Given the description of an element on the screen output the (x, y) to click on. 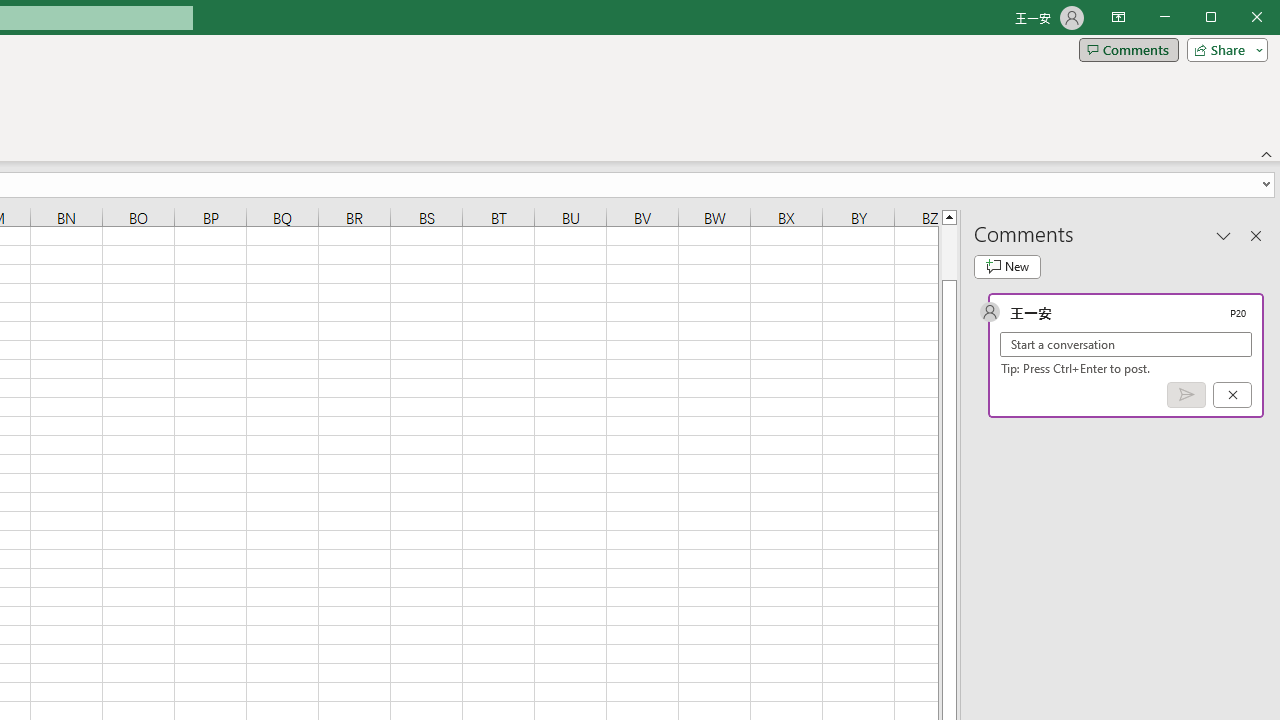
New comment (1007, 266)
